Given the description of an element on the screen output the (x, y) to click on. 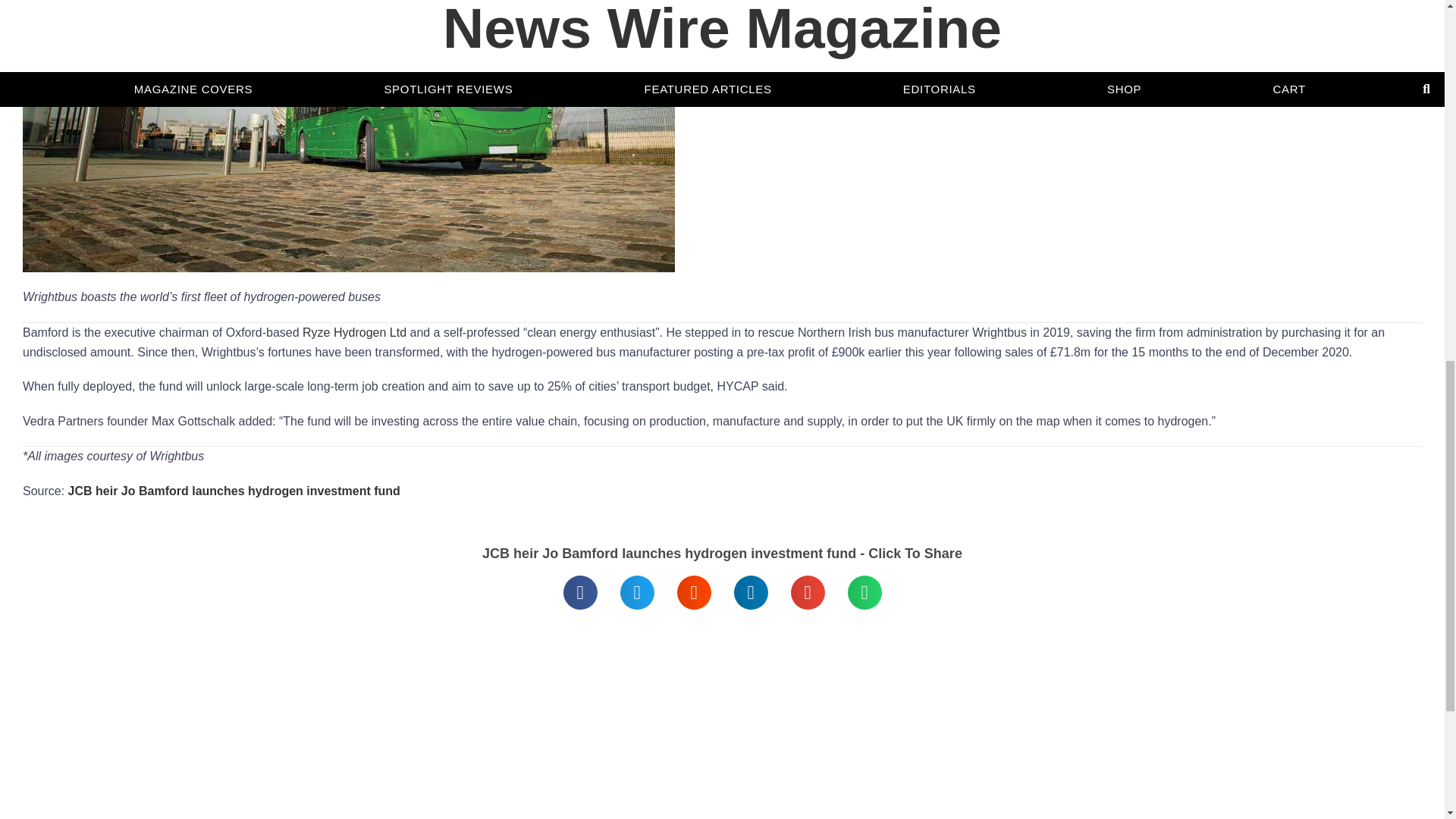
Ryze Hydrogen Ltd (354, 332)
JCB heir Jo Bamford launches hydrogen investment fund (234, 490)
